Given the description of an element on the screen output the (x, y) to click on. 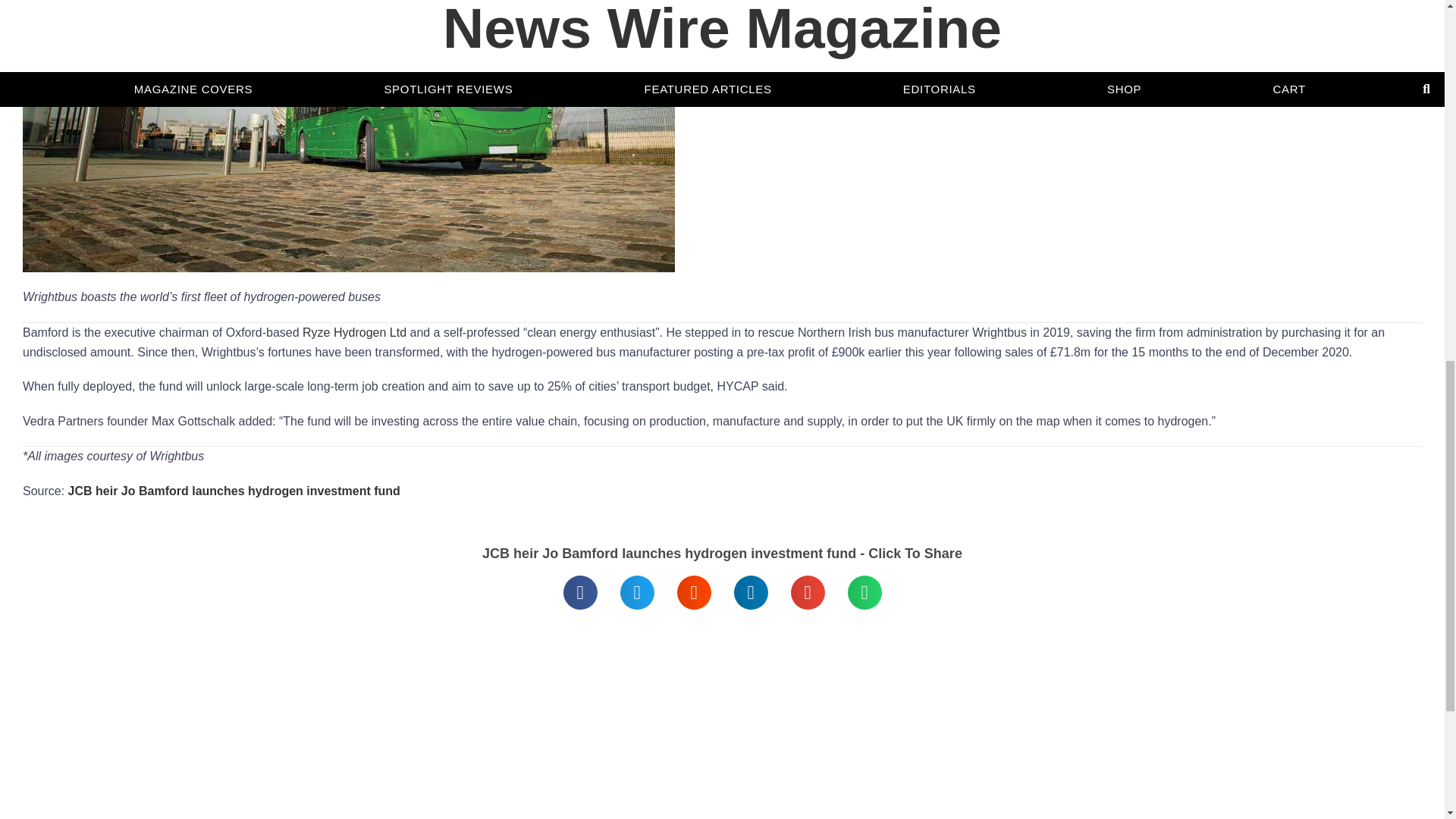
Ryze Hydrogen Ltd (354, 332)
JCB heir Jo Bamford launches hydrogen investment fund (234, 490)
